Given the description of an element on the screen output the (x, y) to click on. 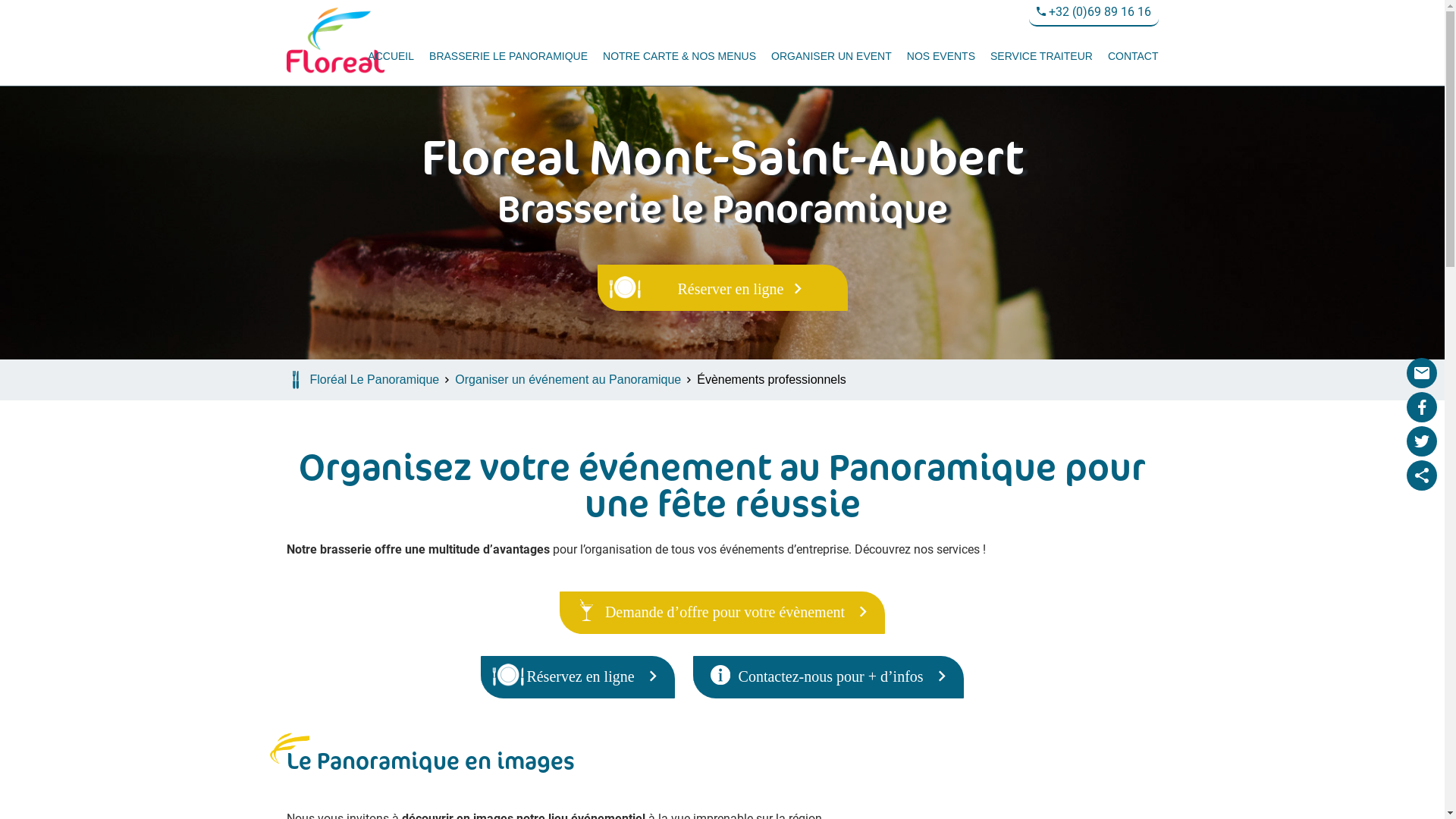
Partager ce contenu Element type: text (1421, 475)
NOTRE CARTE & NOS MENUS Element type: text (679, 55)
NOS EVENTS Element type: text (940, 55)
CONTACT Element type: text (1129, 55)
SERVICE TRAITEUR Element type: text (1041, 55)
ORGANISER UN EVENT Element type: text (831, 55)
+32 (0)69 89 16 16 Element type: text (1092, 13)
BRASSERIE LE PANORAMIQUE Element type: text (508, 55)
ACCUEIL Element type: text (390, 55)
